Given the description of an element on the screen output the (x, y) to click on. 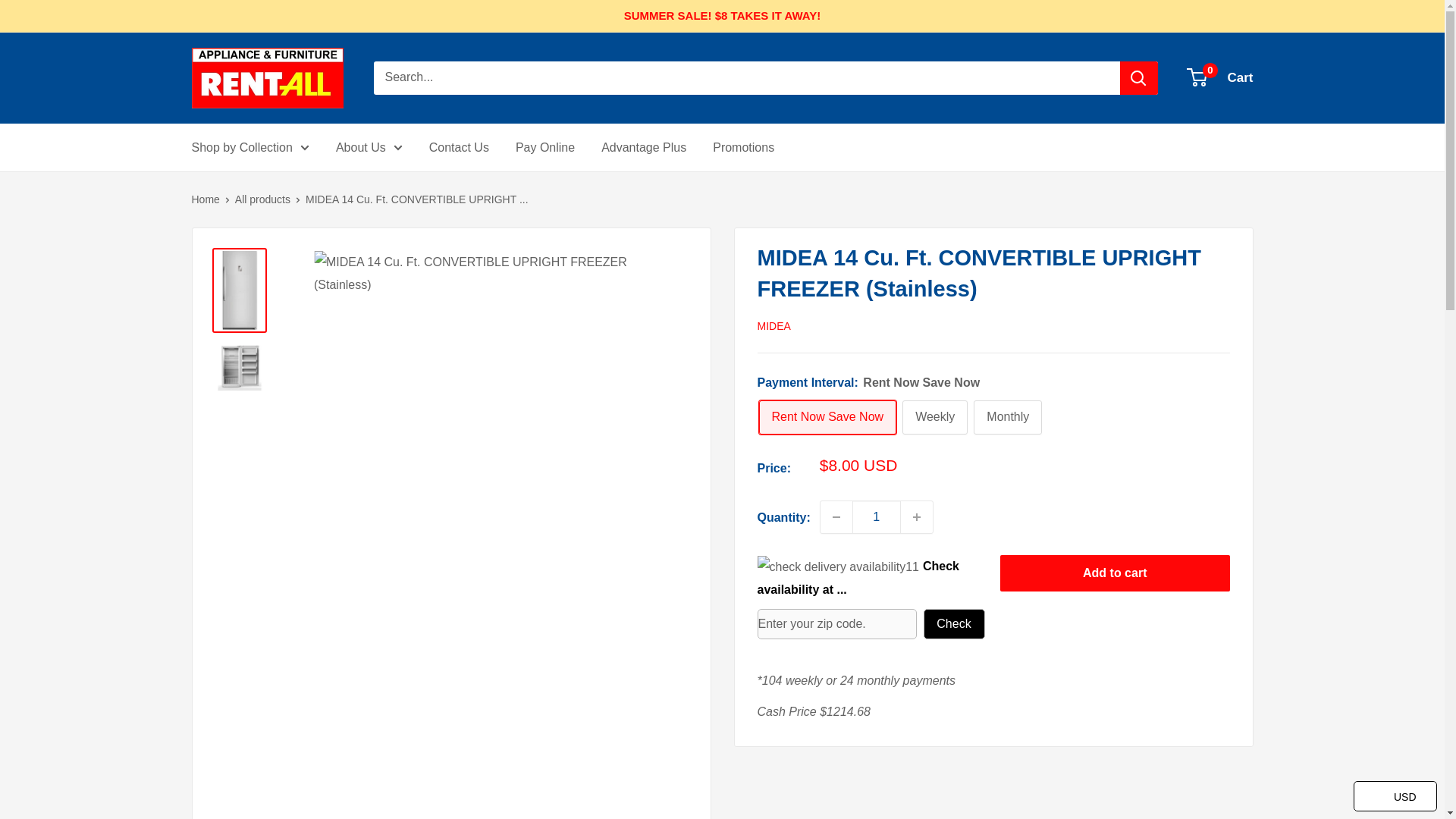
Please enter zipcode (1115, 573)
Monthly (1008, 417)
1 (876, 517)
Increase quantity by 1 (917, 517)
Rent Now Save Now (827, 417)
Weekly (935, 417)
Decrease quantity by 1 (836, 517)
